Given the description of an element on the screen output the (x, y) to click on. 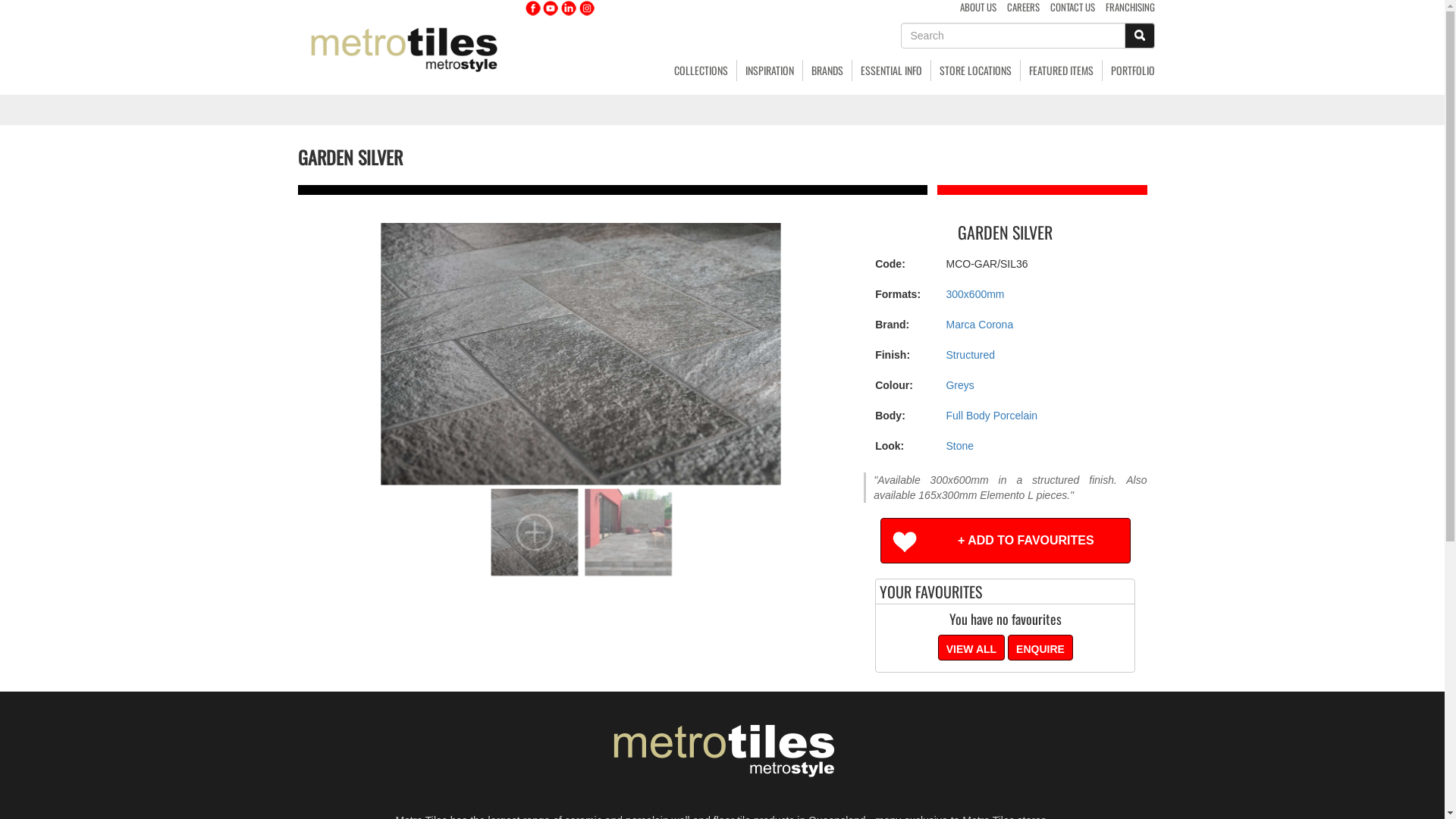
Full Body Porcelain Element type: text (991, 415)
Metro Tiles Metro Style Element type: hover (721, 748)
COLLECTIONS Element type: text (701, 70)
ENQUIRE Element type: text (1040, 647)
PORTFOLIO Element type: text (1128, 70)
STORE LOCATIONS Element type: text (975, 70)
300x600mm Element type: text (974, 294)
BRANDS Element type: text (826, 70)
VIEW ALL Element type: text (971, 647)
ESSENTIAL INFO Element type: text (891, 70)
Stone Element type: text (959, 445)
Greys Element type: text (959, 385)
FEATURED ITEMS Element type: text (1061, 70)
Add to Favourites Element type: hover (1005, 540)
Structured Element type: text (969, 354)
INSPIRATION Element type: text (770, 70)
Marca Corona Element type: text (979, 324)
